Given the description of an element on the screen output the (x, y) to click on. 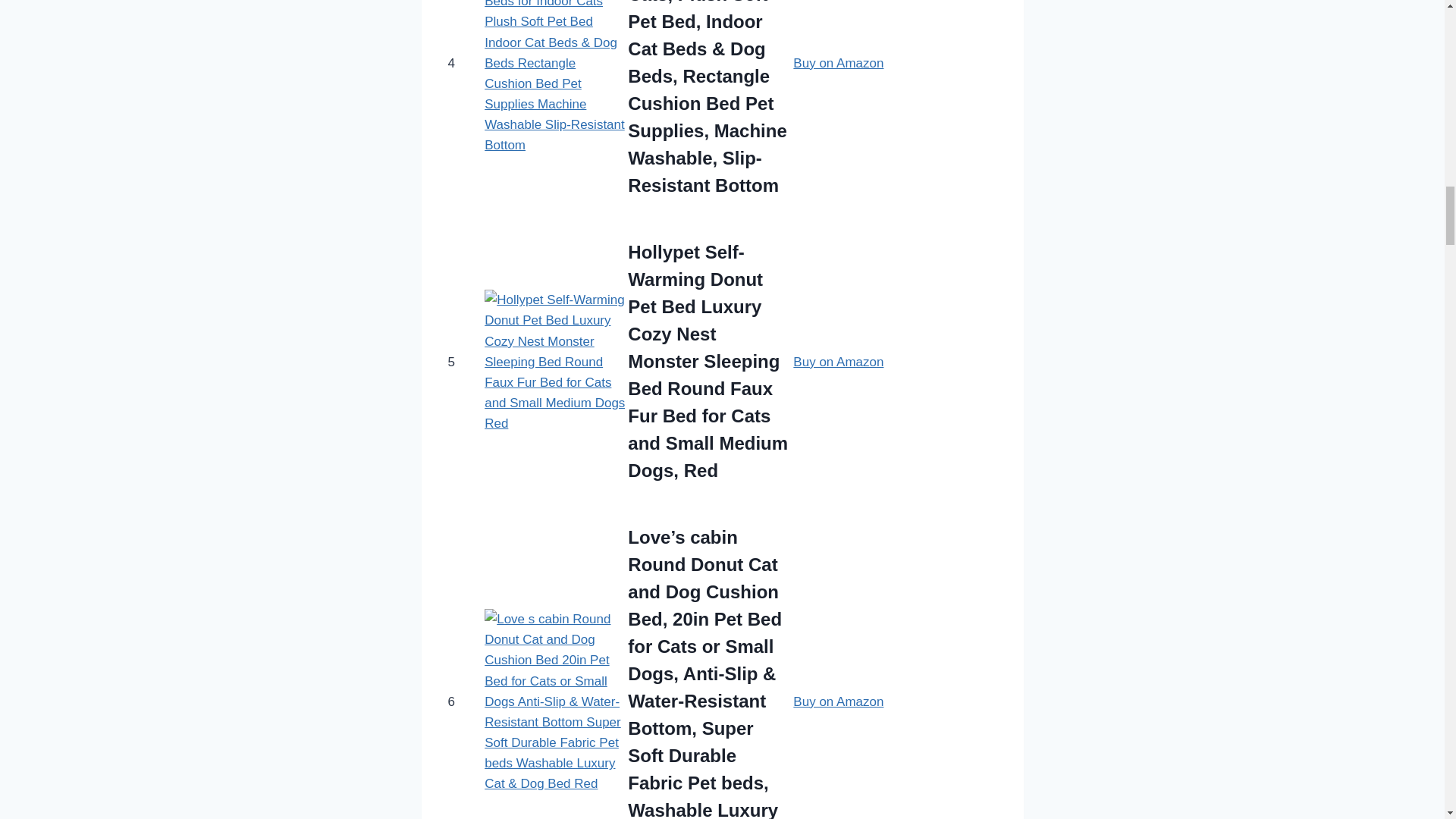
Buy on Amazon (838, 701)
Buy on Amazon (838, 361)
Buy on Amazon (838, 63)
